Given the description of an element on the screen output the (x, y) to click on. 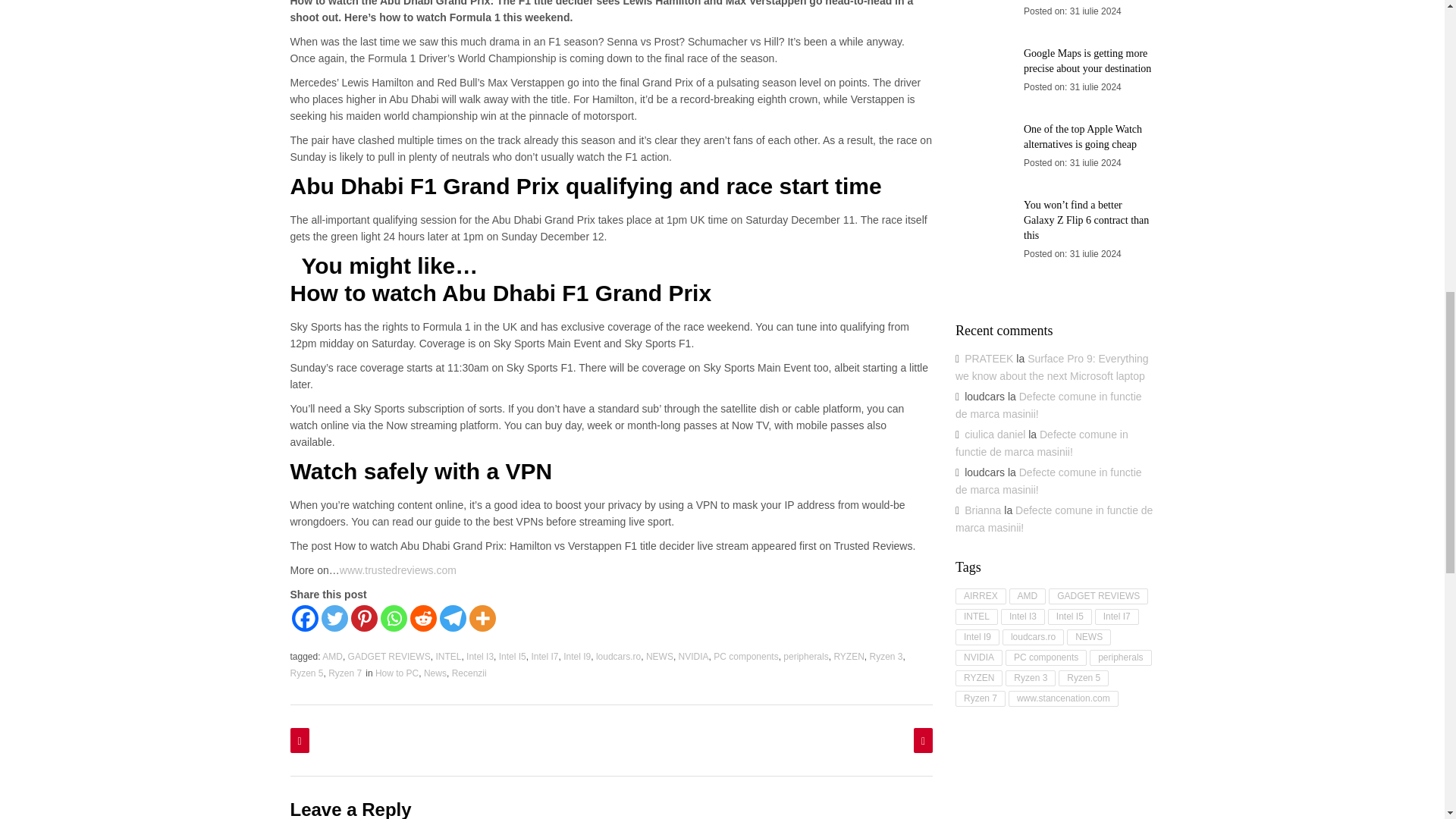
Intel I5 (512, 656)
INTEL (448, 656)
GADGET REVIEWS (388, 656)
www.trustedreviews.com (398, 570)
Intel I3 (479, 656)
AMD (331, 656)
